Given the description of an element on the screen output the (x, y) to click on. 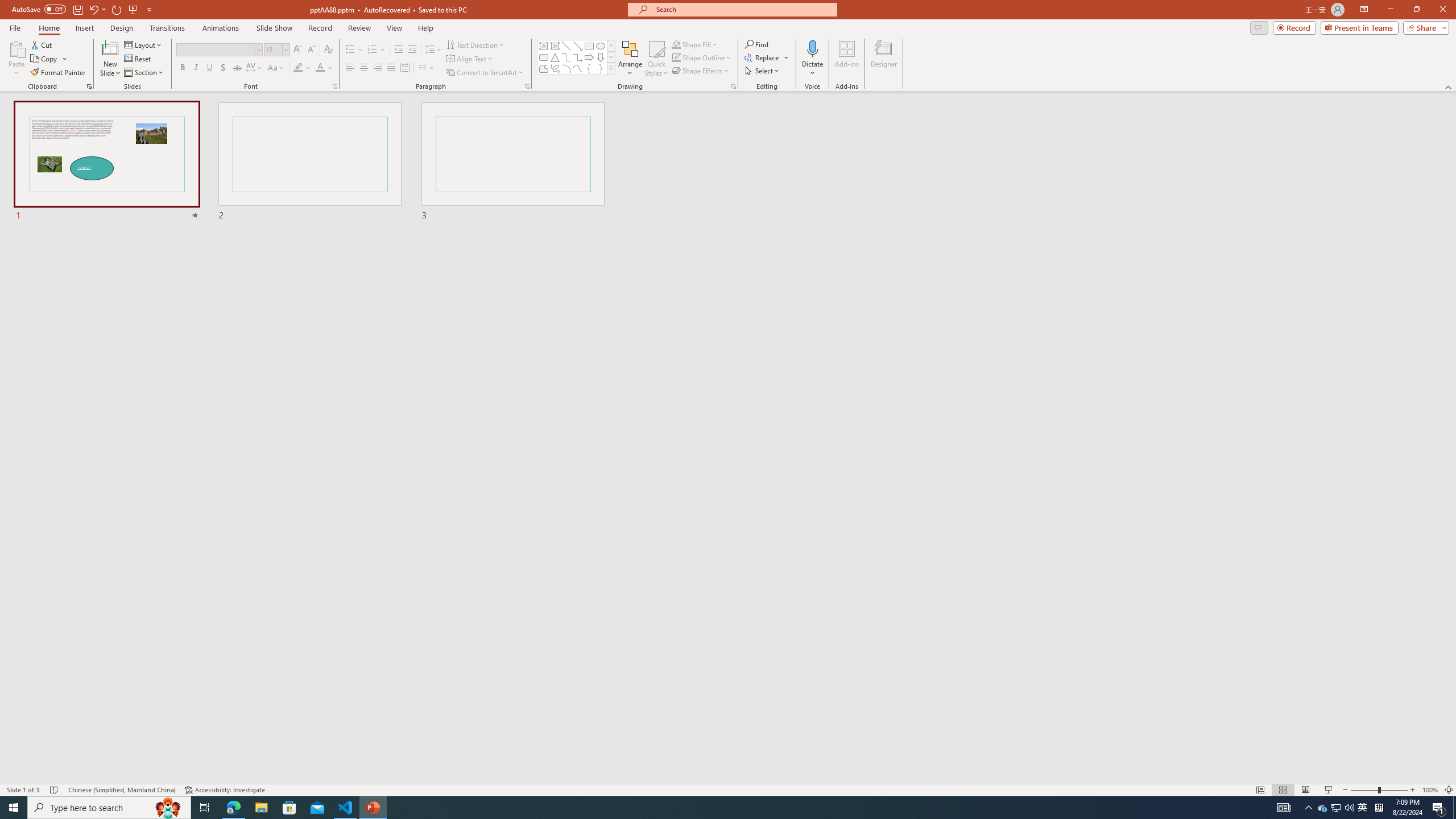
Font Size (273, 49)
